Given the description of an element on the screen output the (x, y) to click on. 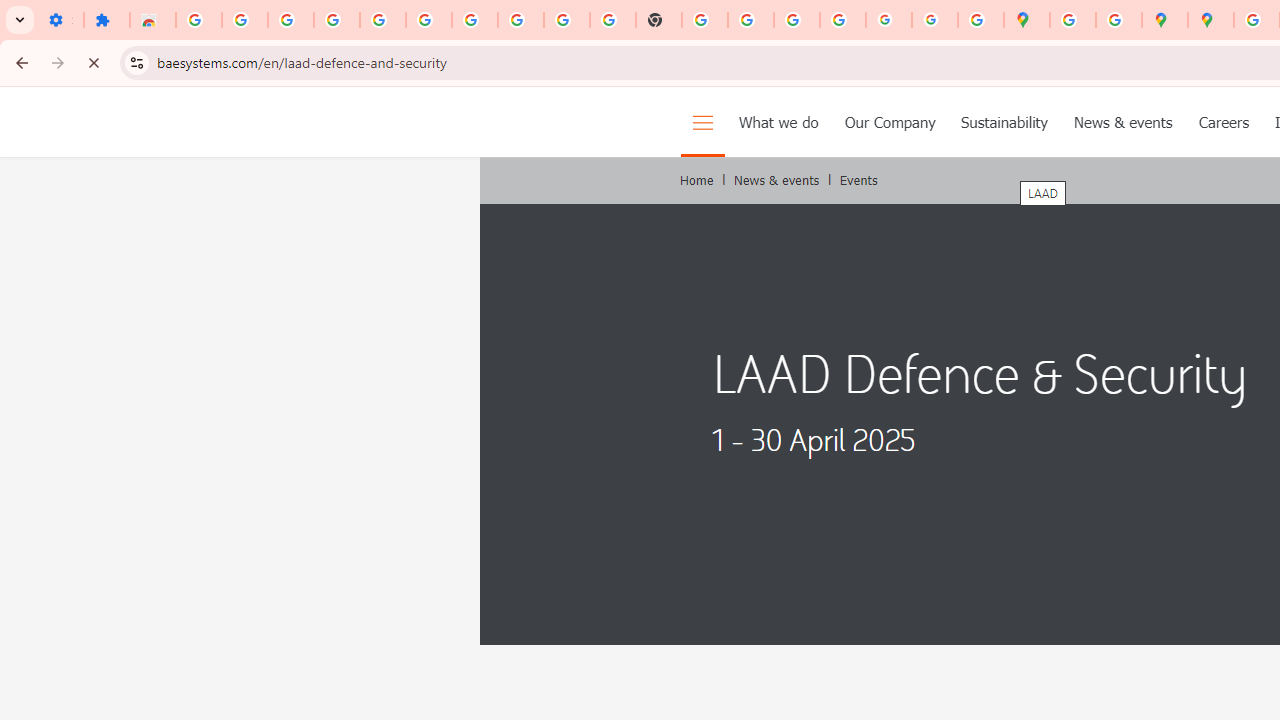
What we do (778, 121)
https://scholar.google.com/ (705, 20)
News & events (1123, 121)
Safety in Our Products - Google Safety Center (1118, 20)
